Given the description of an element on the screen output the (x, y) to click on. 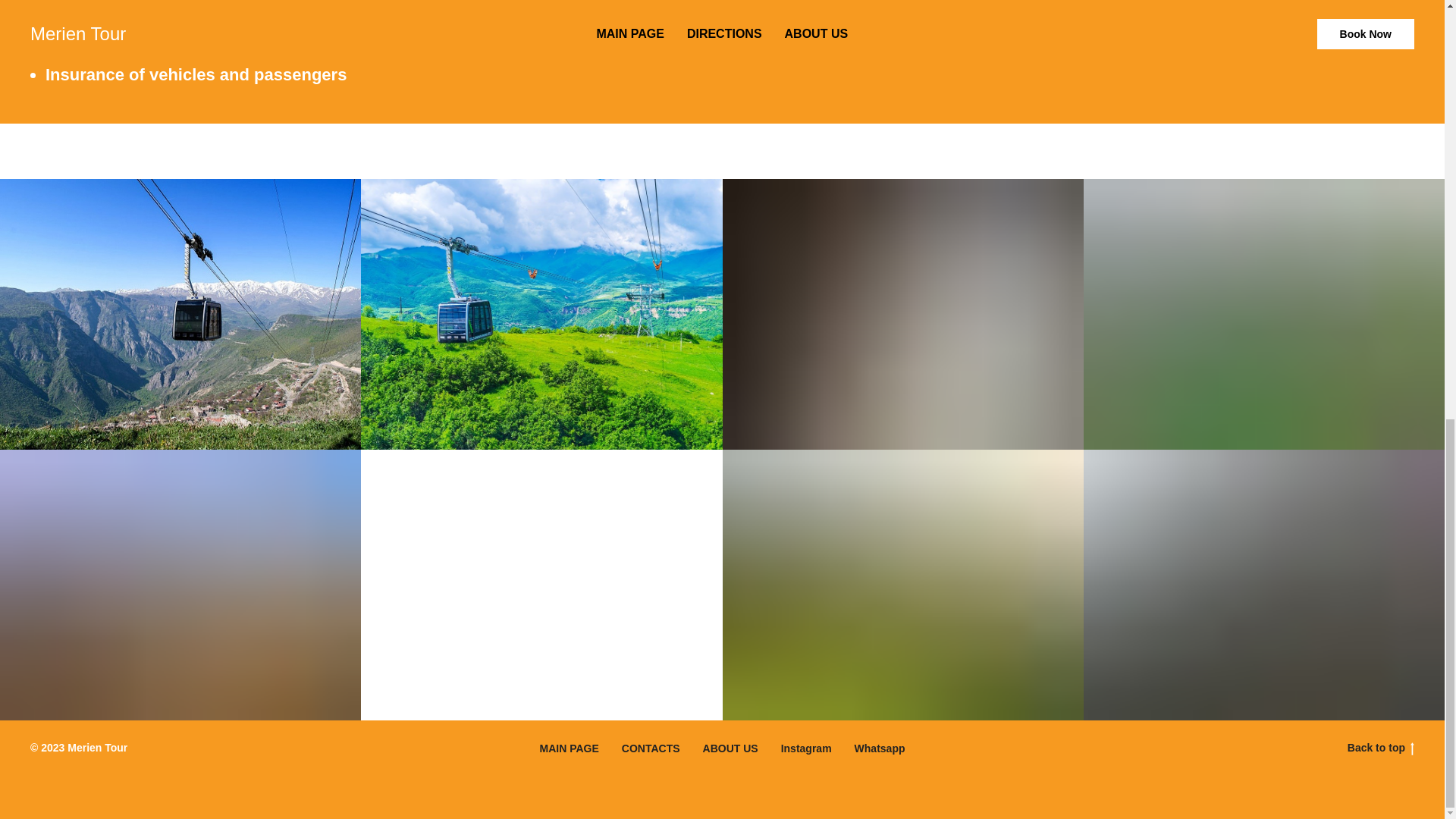
Back to top (1318, 748)
ABOUT US (730, 748)
Instagram (805, 748)
MAIN PAGE (569, 748)
Back to top (1380, 748)
Back to top (1380, 748)
Whatsapp (879, 748)
CONTACTS (650, 748)
